Given the description of an element on the screen output the (x, y) to click on. 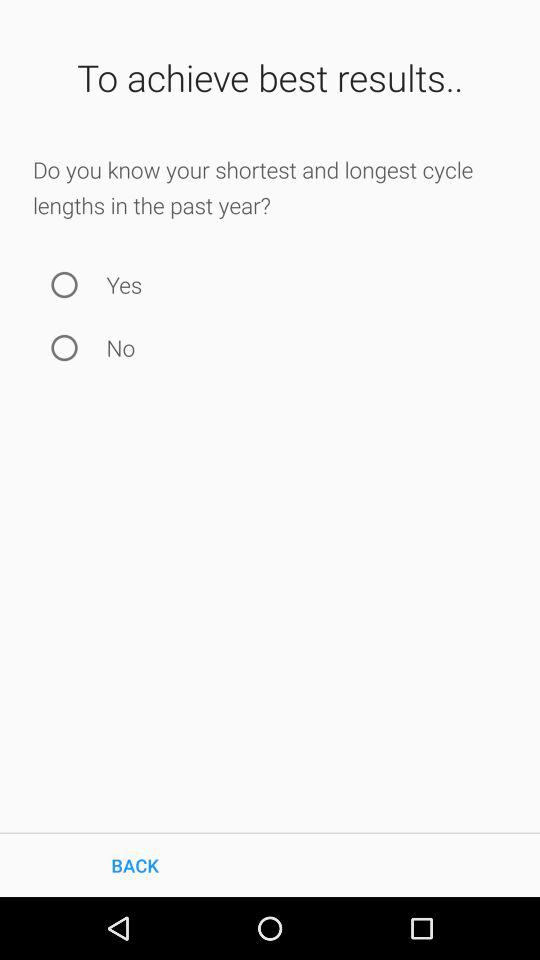
go to select no (64, 347)
